Given the description of an element on the screen output the (x, y) to click on. 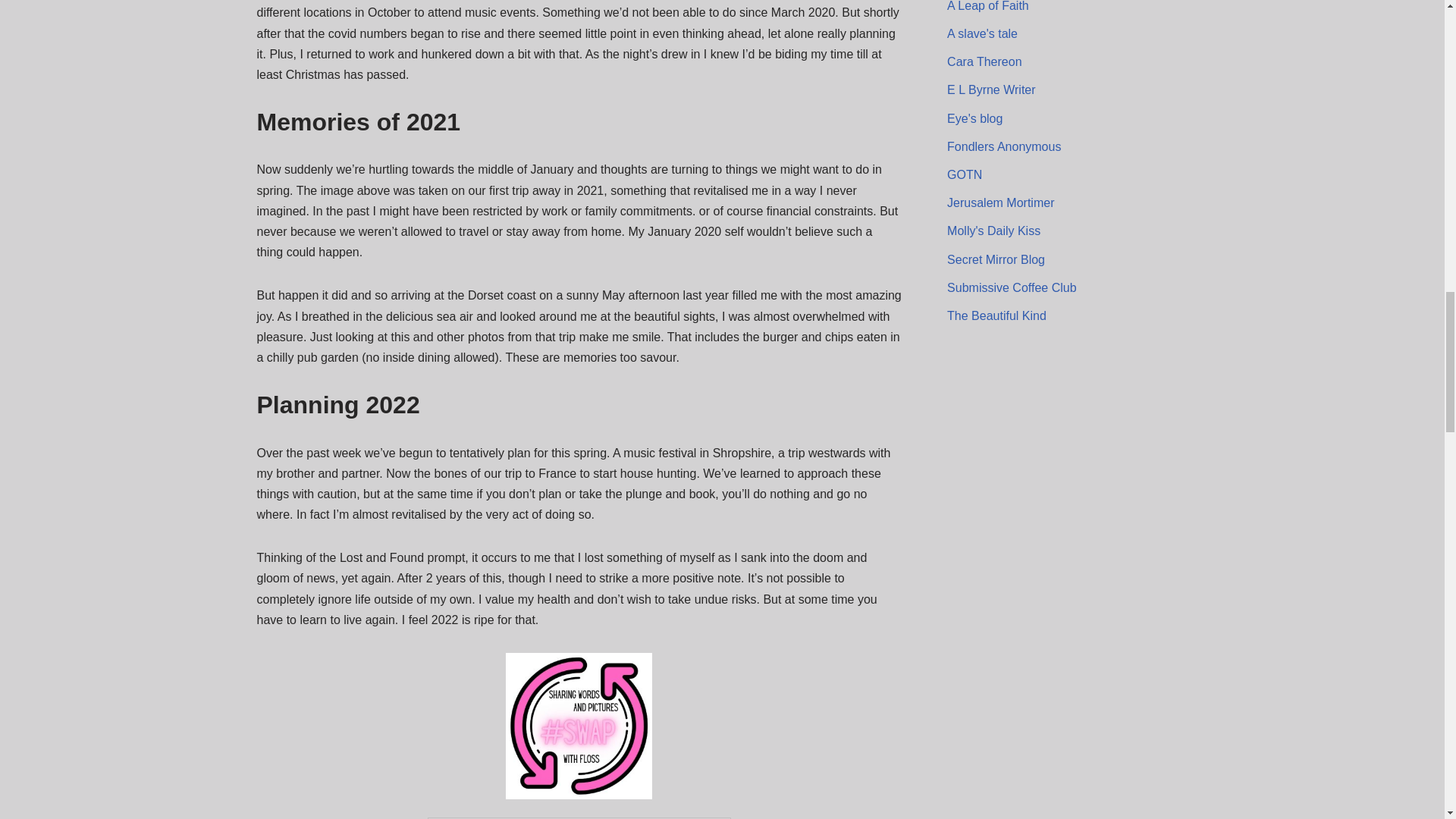
Between the Lines (1000, 202)
Prompts and posts about submission, by submissives (1011, 287)
Kendra Holliday (996, 315)
Girl on the Net (964, 174)
Fondles (1004, 146)
Molly (994, 230)
